Given the description of an element on the screen output the (x, y) to click on. 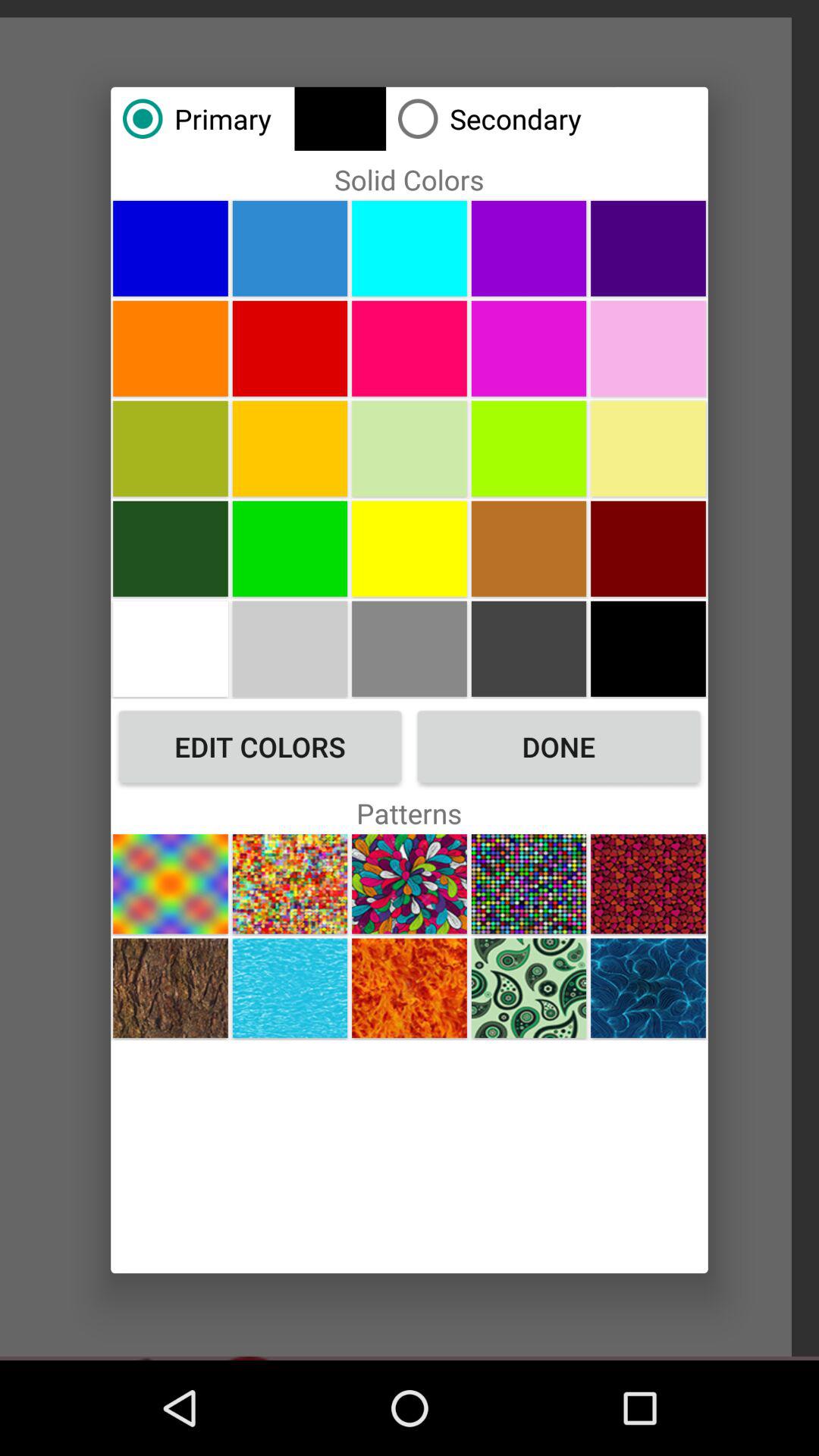
select color (289, 248)
